Given the description of an element on the screen output the (x, y) to click on. 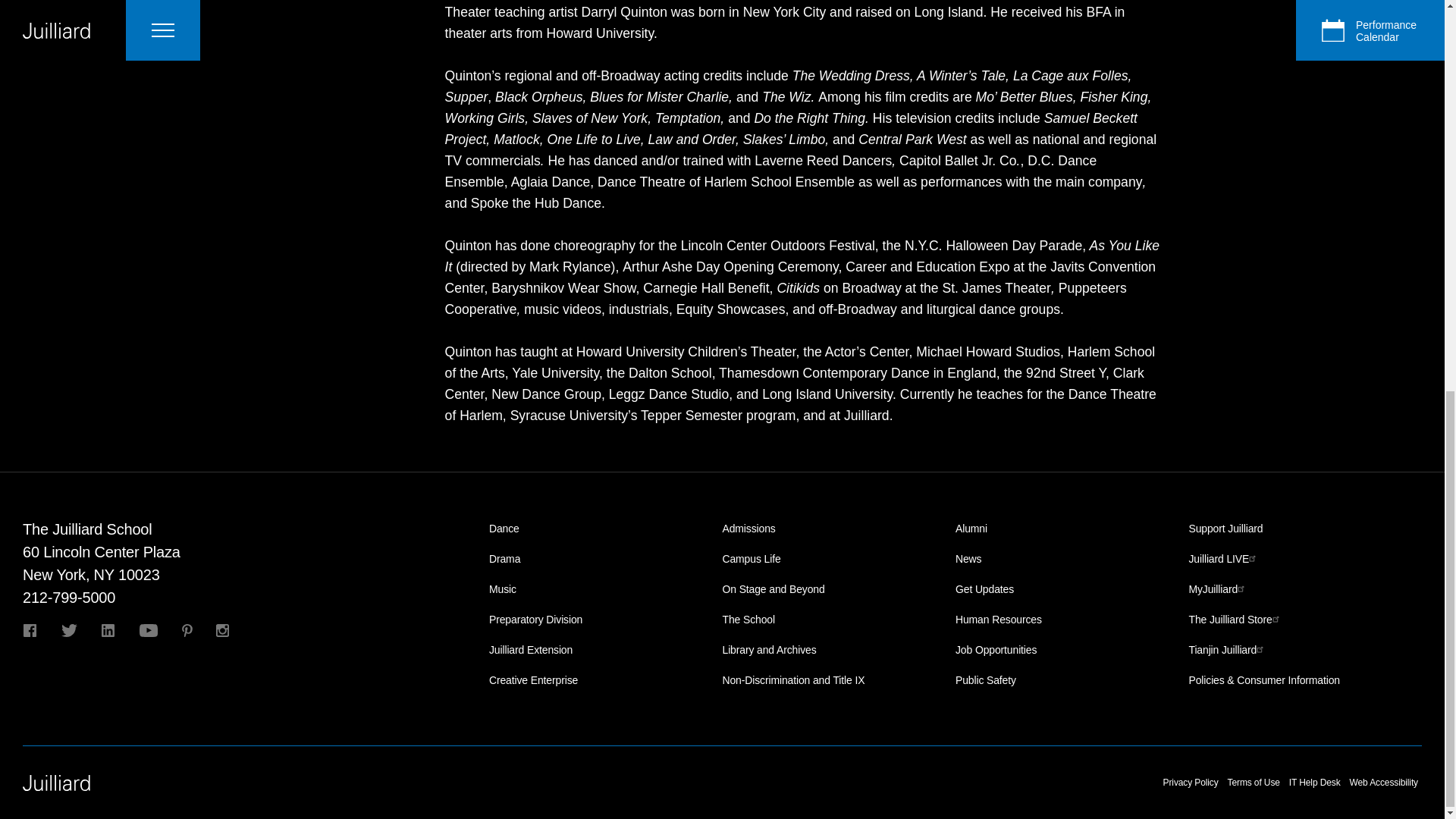
Creative Enterprise (533, 680)
Non-Discrimination and Title IX (793, 680)
